Given the description of an element on the screen output the (x, y) to click on. 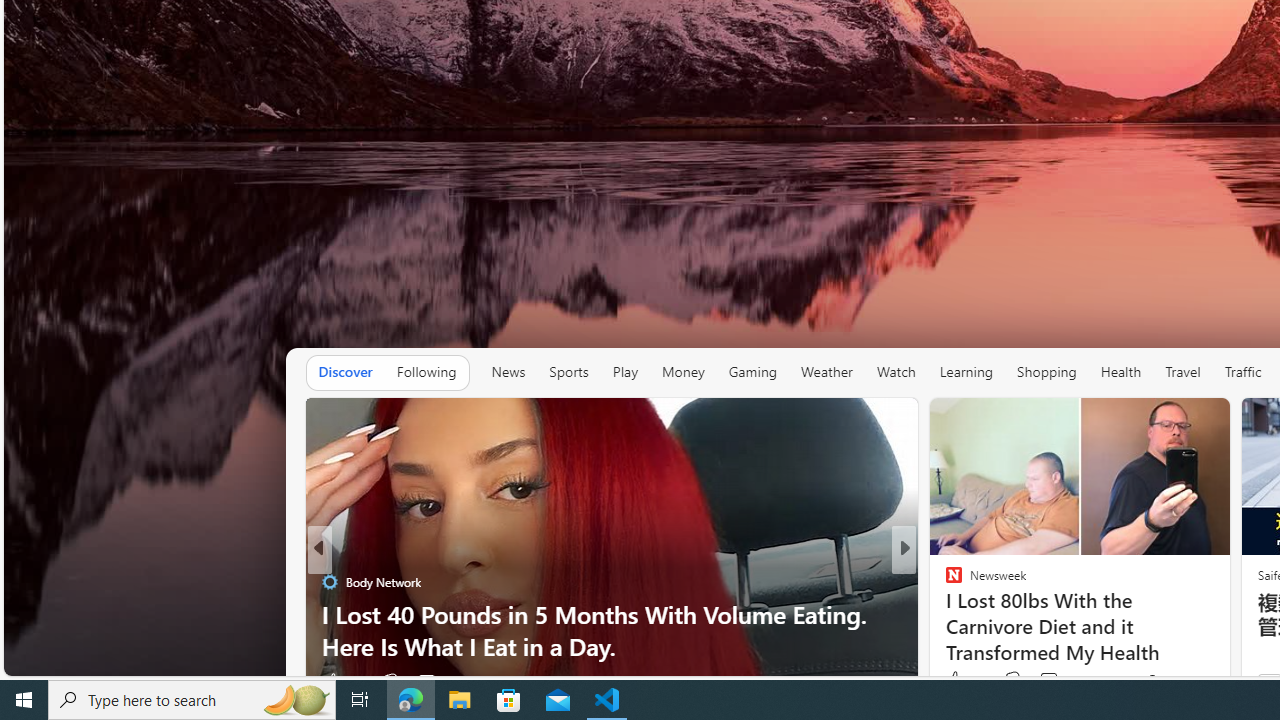
365 Like (959, 681)
View comments 31 Comment (426, 681)
Body Network (944, 581)
194 Like (959, 681)
Tastes Delicious (944, 581)
57 Like (956, 681)
XDA Developers (944, 614)
